Given the description of an element on the screen output the (x, y) to click on. 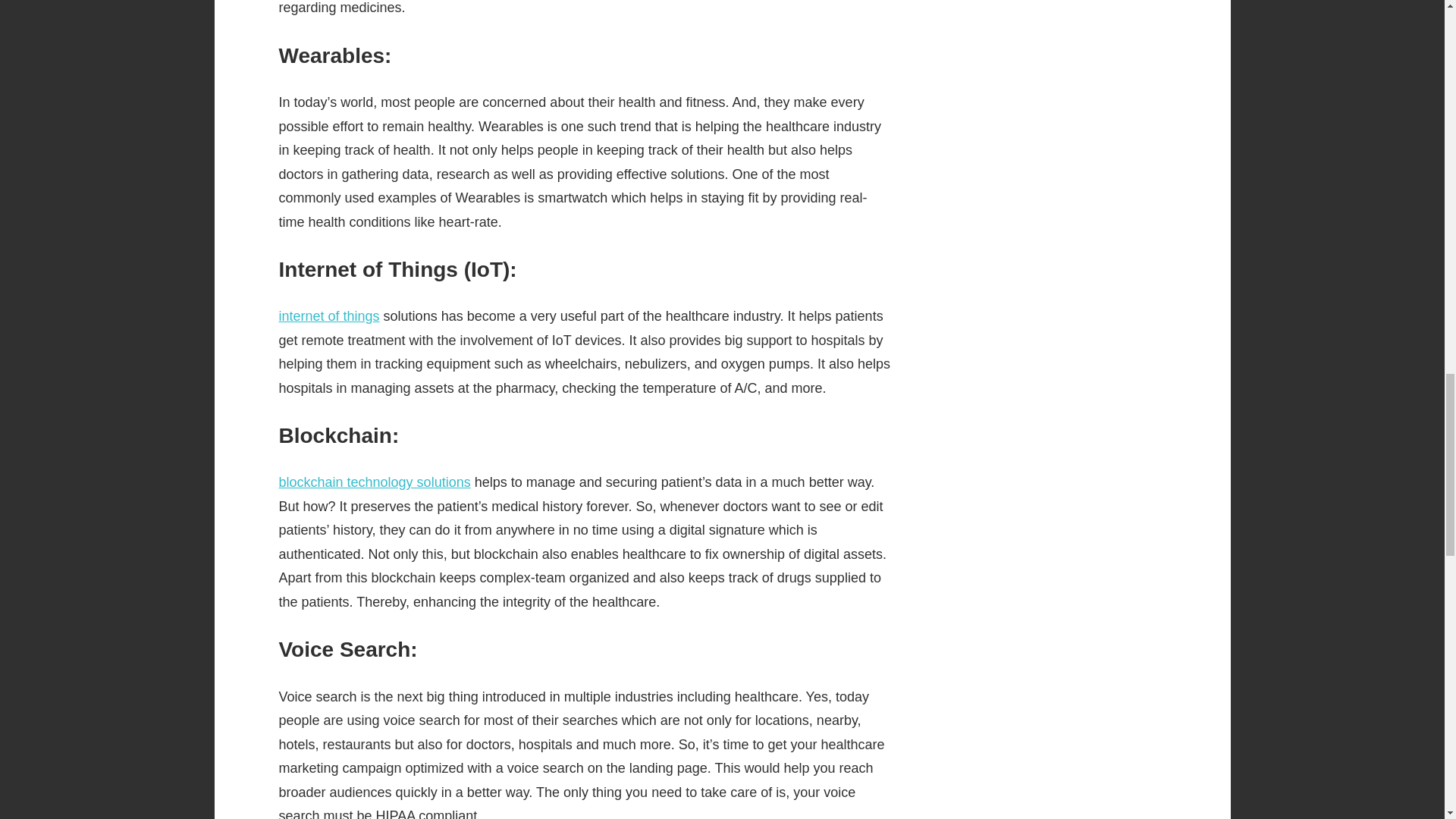
blockchain technology solutions (374, 482)
internet of things (329, 315)
